Given the description of an element on the screen output the (x, y) to click on. 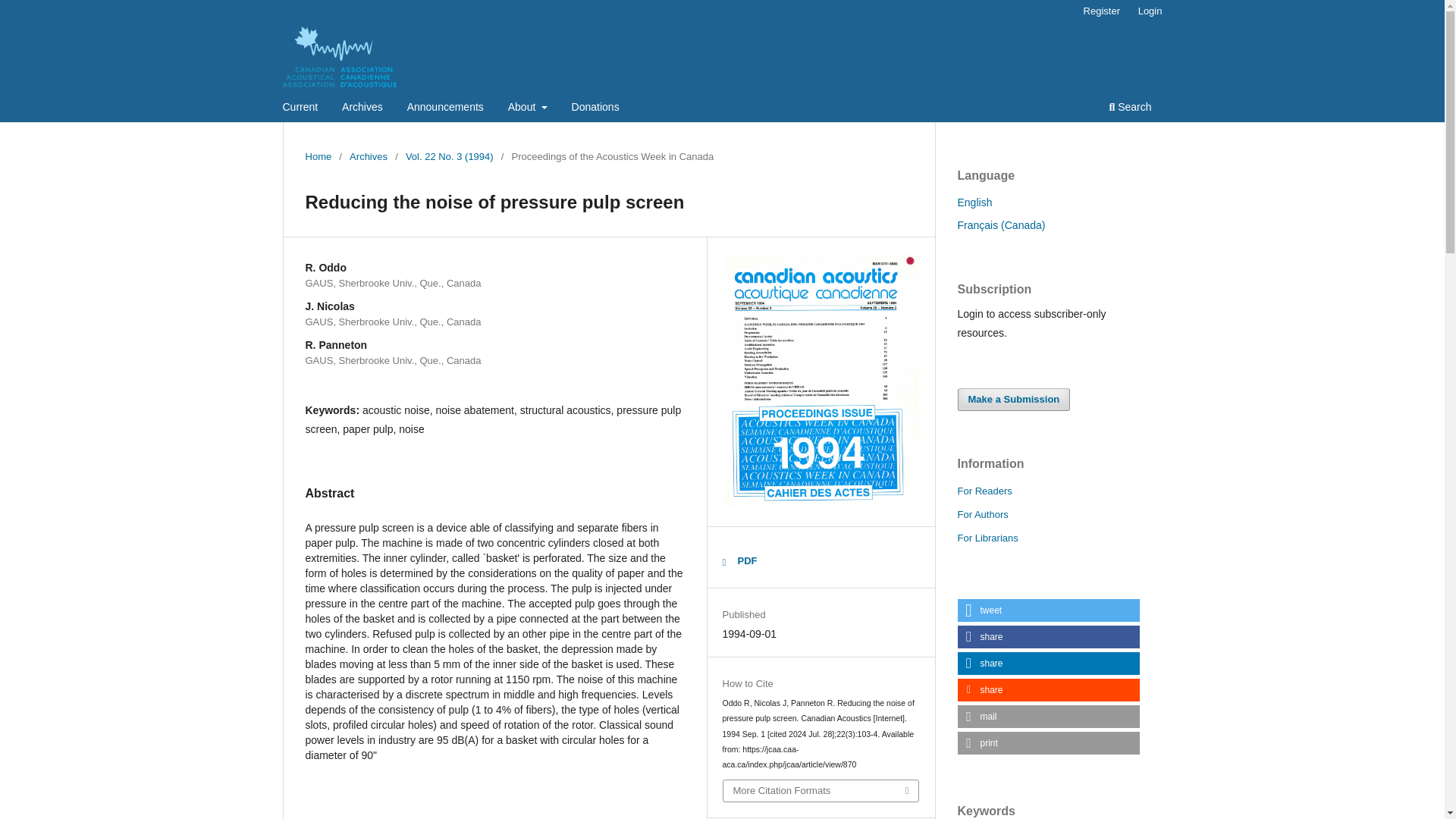
Send by email (1047, 716)
Archives (368, 156)
Share on Reddit (1047, 689)
Share on Twitter (1047, 609)
Share on LinkedIn (1047, 662)
Share on Facebook (1047, 636)
About (527, 108)
PDF (739, 560)
Search (1129, 108)
Register (1100, 11)
More Citation Formats (820, 790)
print (1047, 743)
Current (300, 108)
Announcements (445, 108)
Archives (362, 108)
